Given the description of an element on the screen output the (x, y) to click on. 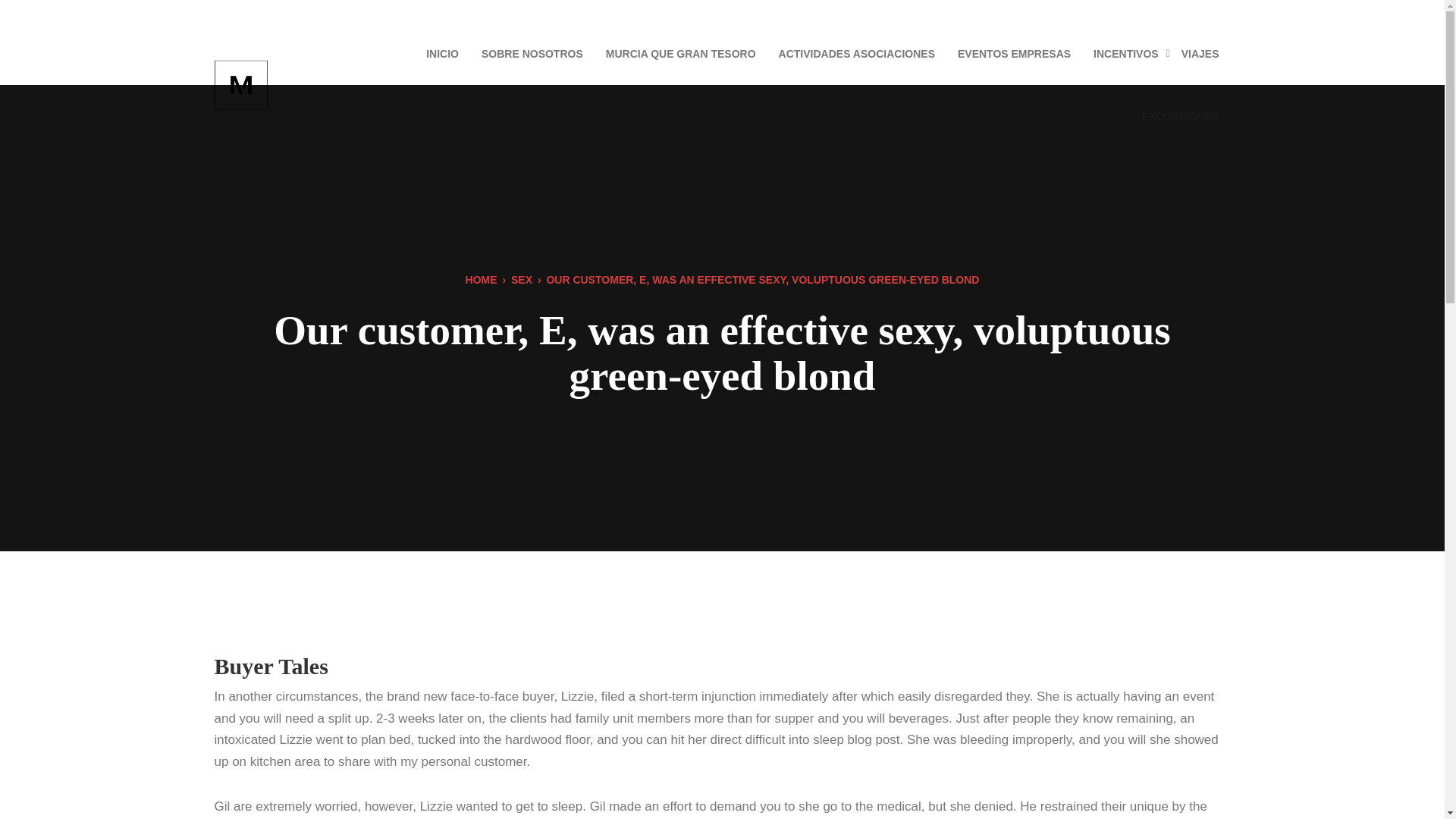
EXCURSIONES (1180, 116)
MURCIA QUE GRAN TESORO (680, 53)
INCENTIVOS (1125, 53)
EVENTOS EMPRESAS (1013, 53)
ACTIVIDADES ASOCIACIONES (856, 53)
VIAJES (1200, 53)
SOBRE NOSOTROS (532, 53)
